Given the description of an element on the screen output the (x, y) to click on. 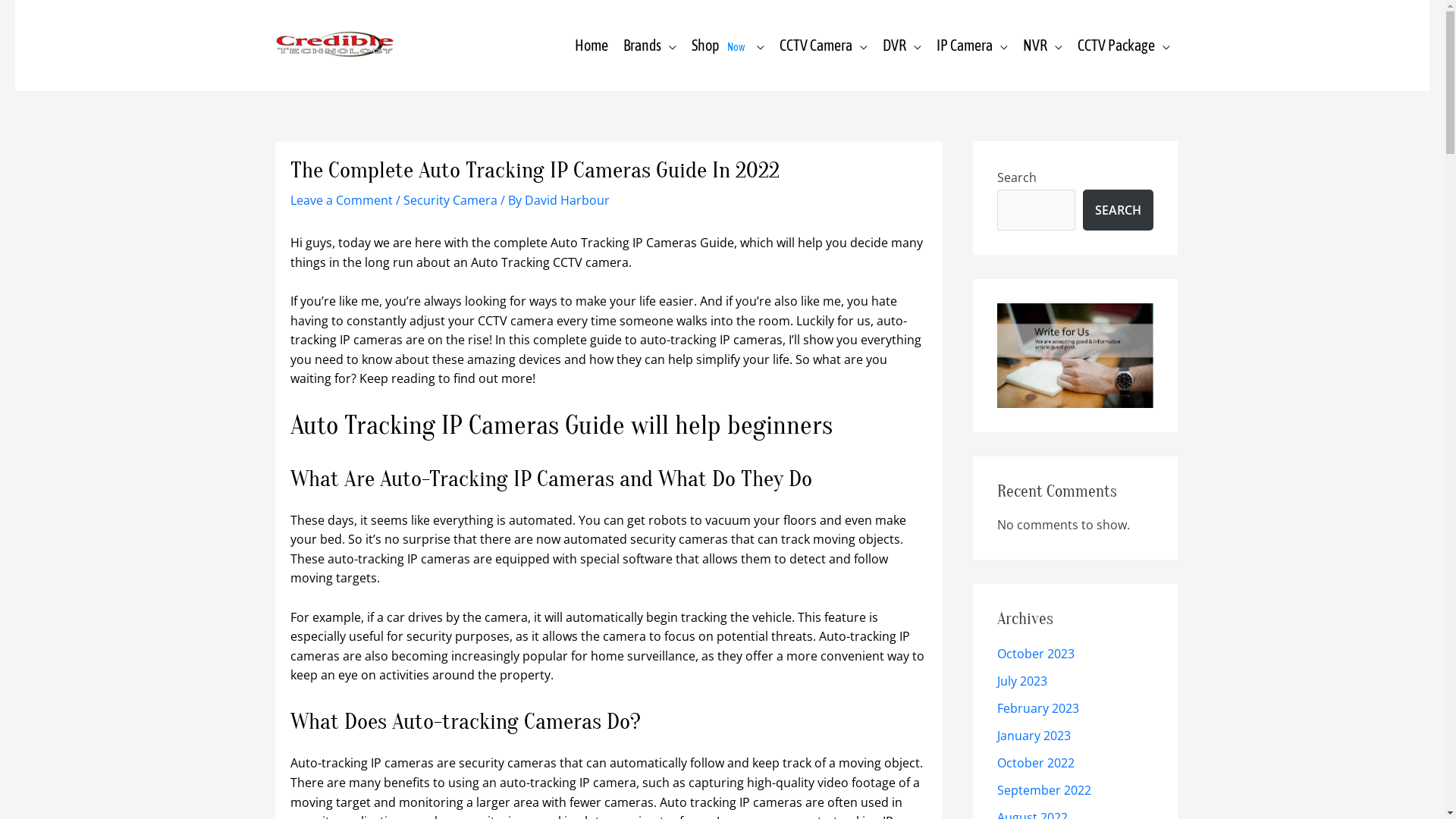
NVR Element type: text (1041, 45)
CCTV Camera Element type: text (823, 45)
October 2023 Element type: text (1034, 653)
Leave a Comment Element type: text (340, 199)
July 2023 Element type: text (1021, 680)
IP Camera Element type: text (971, 45)
Brands Element type: text (649, 45)
January 2023 Element type: text (1033, 735)
Security Camera Element type: text (450, 199)
David Harbour Element type: text (566, 199)
February 2023 Element type: text (1037, 707)
October 2022 Element type: text (1034, 762)
ShopNow Element type: text (727, 45)
Home Element type: text (591, 45)
SEARCH Element type: text (1117, 209)
DVR Element type: text (901, 45)
CCTV Package Element type: text (1122, 45)
September 2022 Element type: text (1043, 789)
